Given the description of an element on the screen output the (x, y) to click on. 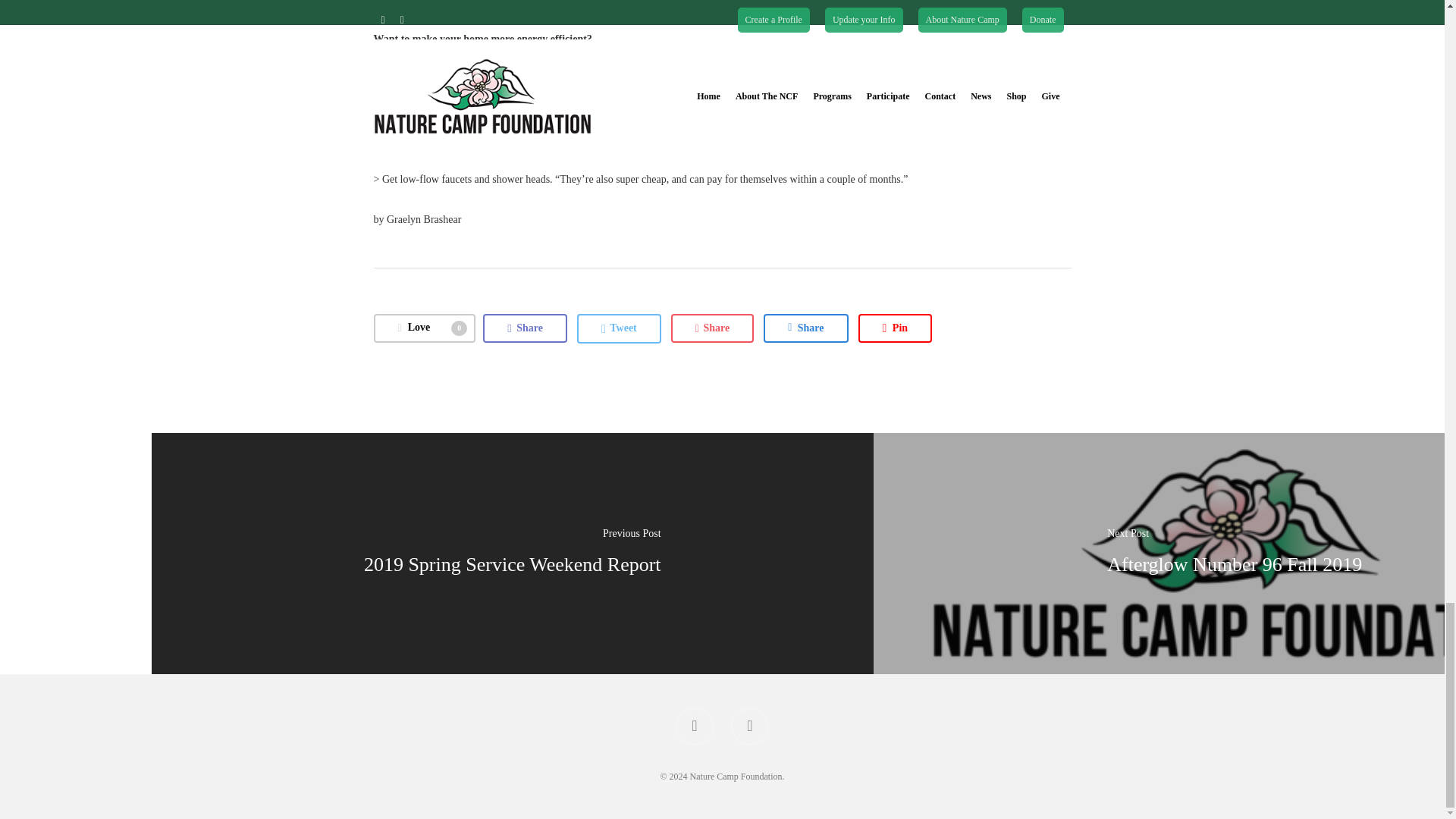
Tweet this (618, 328)
Love this (424, 328)
Share this (712, 328)
Share this (804, 328)
Share (804, 328)
Share (712, 328)
Share (525, 328)
Pin this (896, 328)
Tweet (618, 328)
Share this (525, 328)
Pin (896, 328)
